Given the description of an element on the screen output the (x, y) to click on. 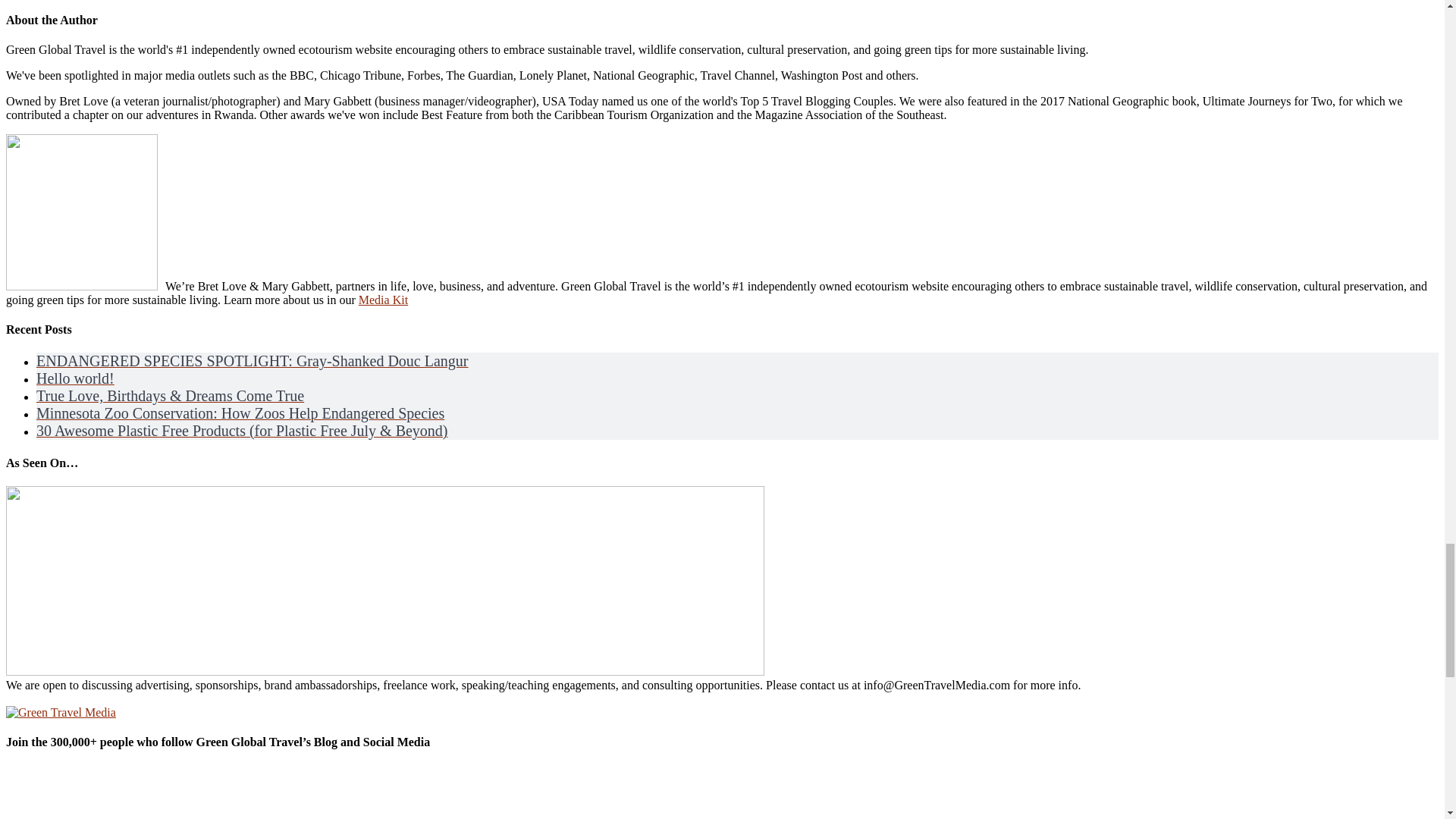
Email (156, 791)
